Given the description of an element on the screen output the (x, y) to click on. 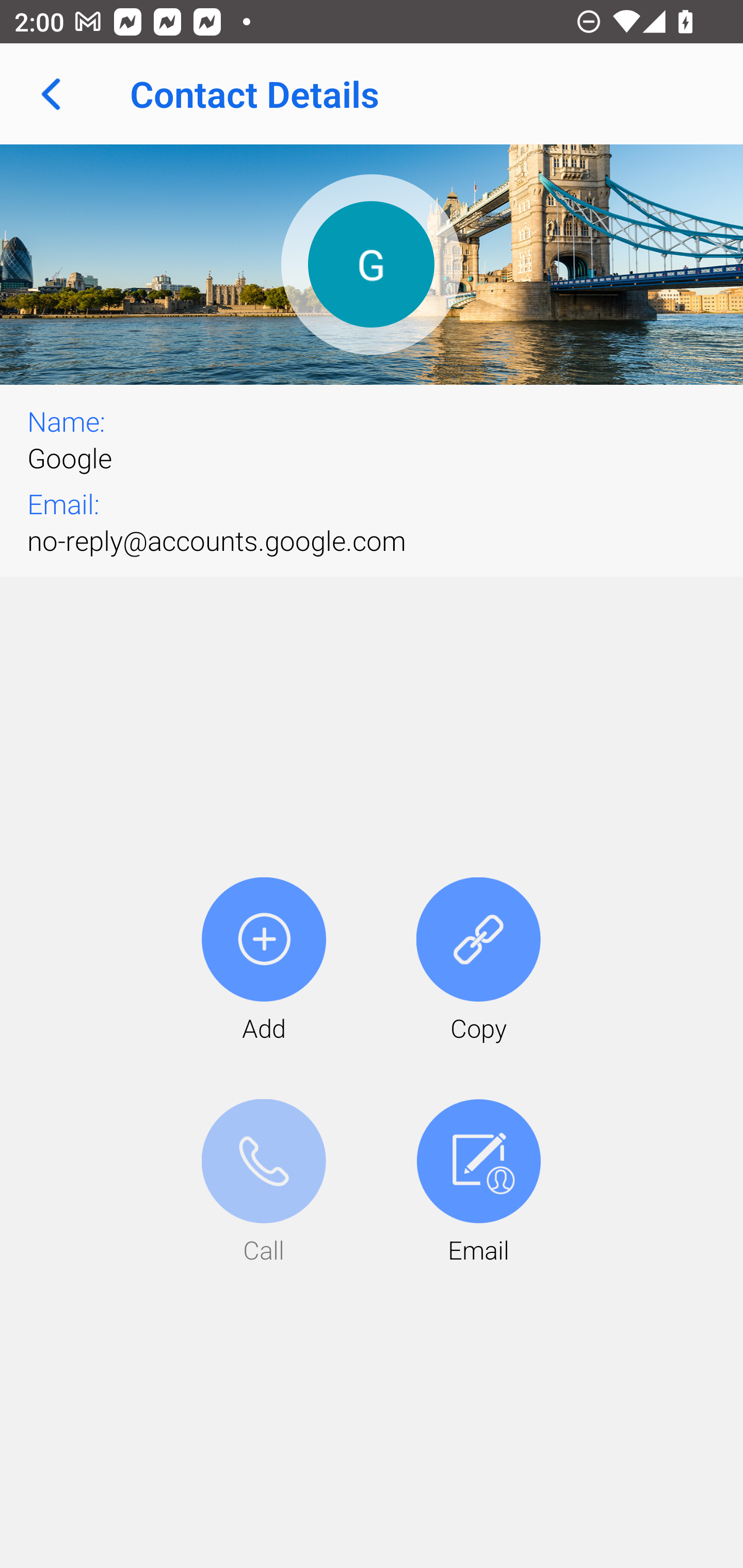
Navigate up (50, 93)
Add (264, 961)
Copy (478, 961)
Call (264, 1182)
Email (478, 1182)
